Given the description of an element on the screen output the (x, y) to click on. 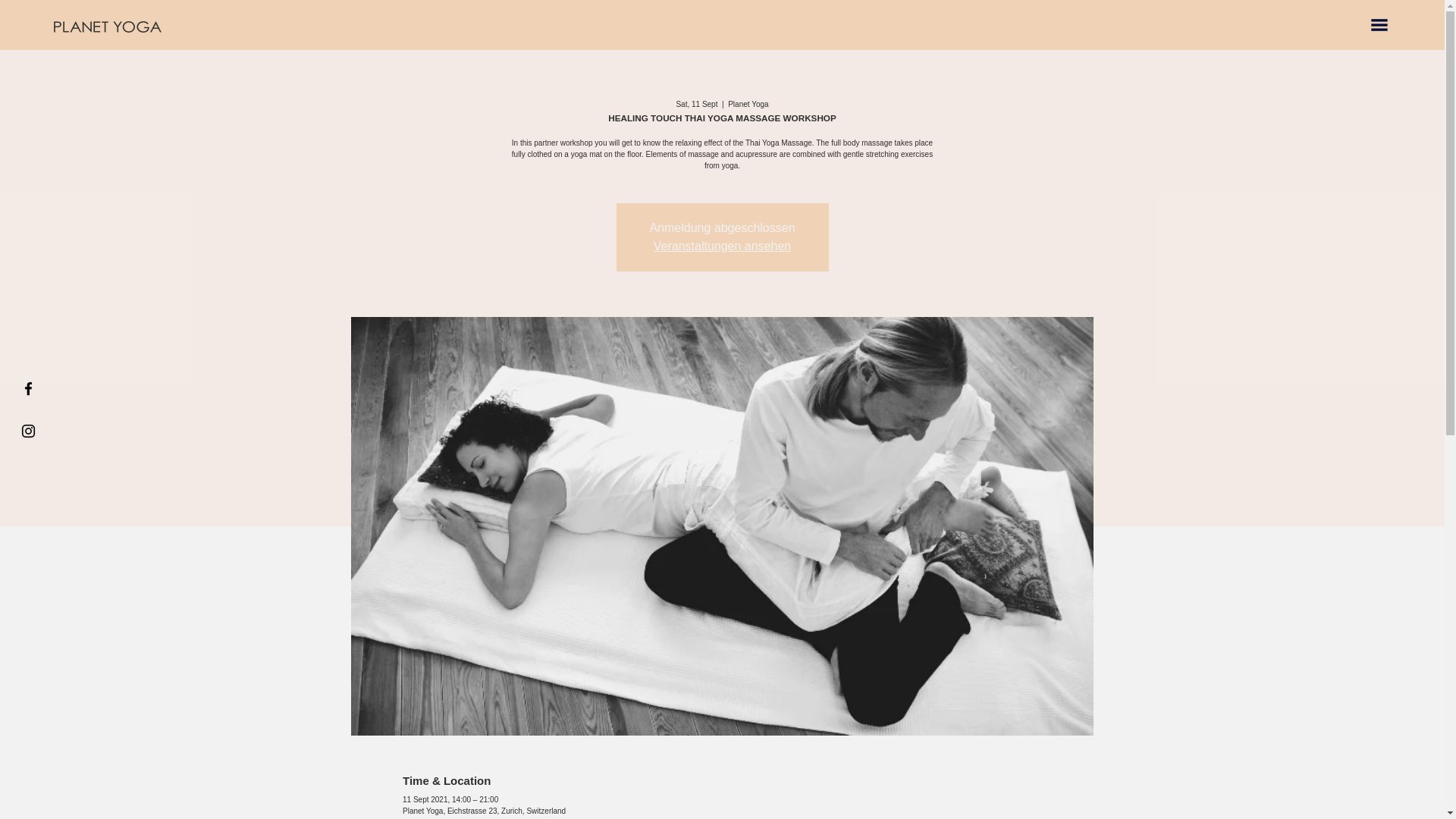
Veranstaltungen ansehen (721, 245)
Planet Yoga Home (106, 26)
